Given the description of an element on the screen output the (x, y) to click on. 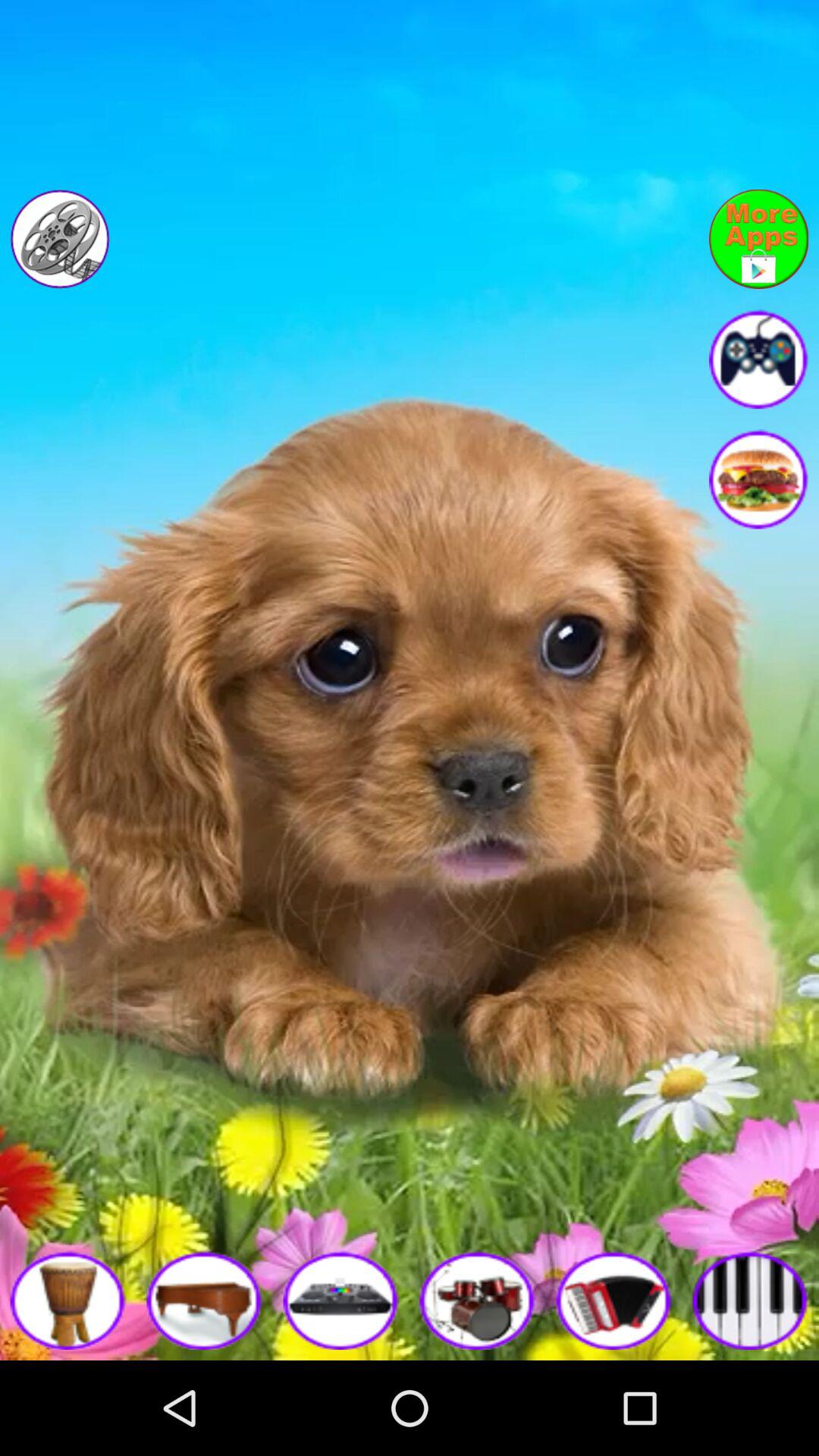
play piano (750, 1300)
